Given the description of an element on the screen output the (x, y) to click on. 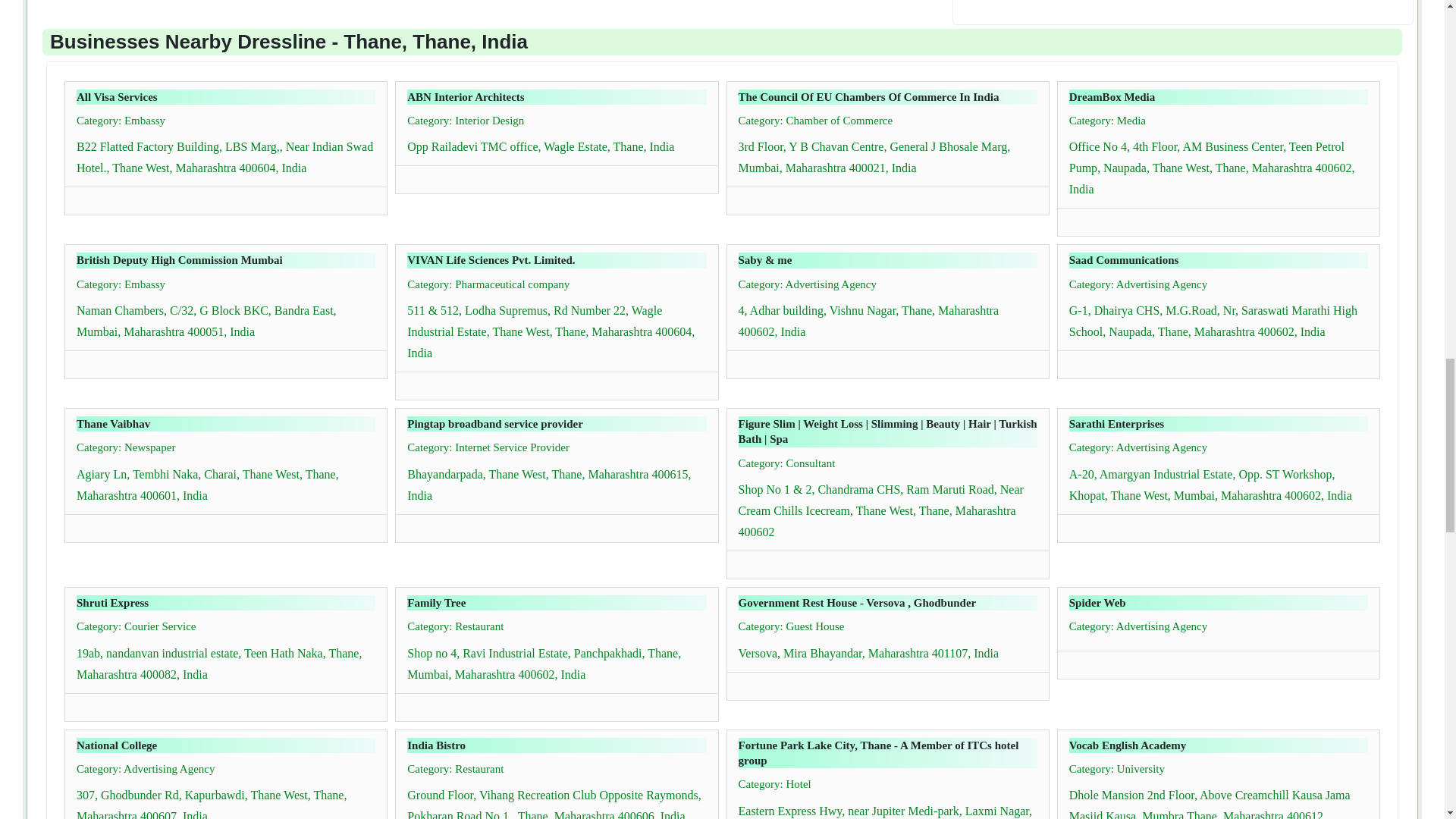
View Details (84, 360)
View Details (84, 196)
View Details (1076, 218)
View Details (414, 175)
View Details (414, 381)
View Details (746, 196)
